Given the description of an element on the screen output the (x, y) to click on. 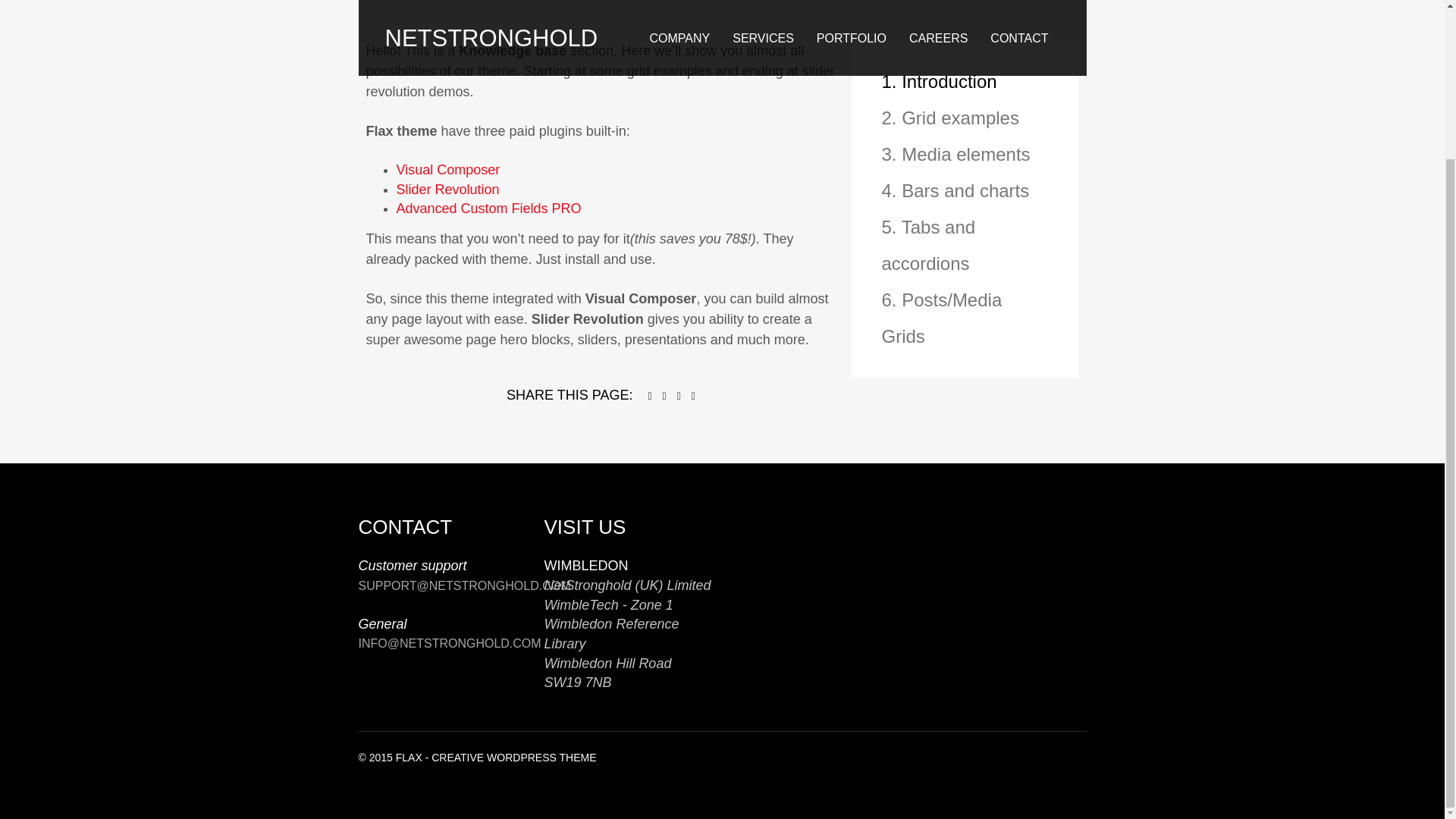
Visual Composer (447, 169)
Slider Revolution (447, 189)
Advanced Custom Fields PRO (488, 208)
2. Grid examples (964, 117)
3. Media elements (964, 154)
4. Bars and charts (964, 190)
1. Introduction (964, 81)
5. Tabs and accordions (964, 245)
